Given the description of an element on the screen output the (x, y) to click on. 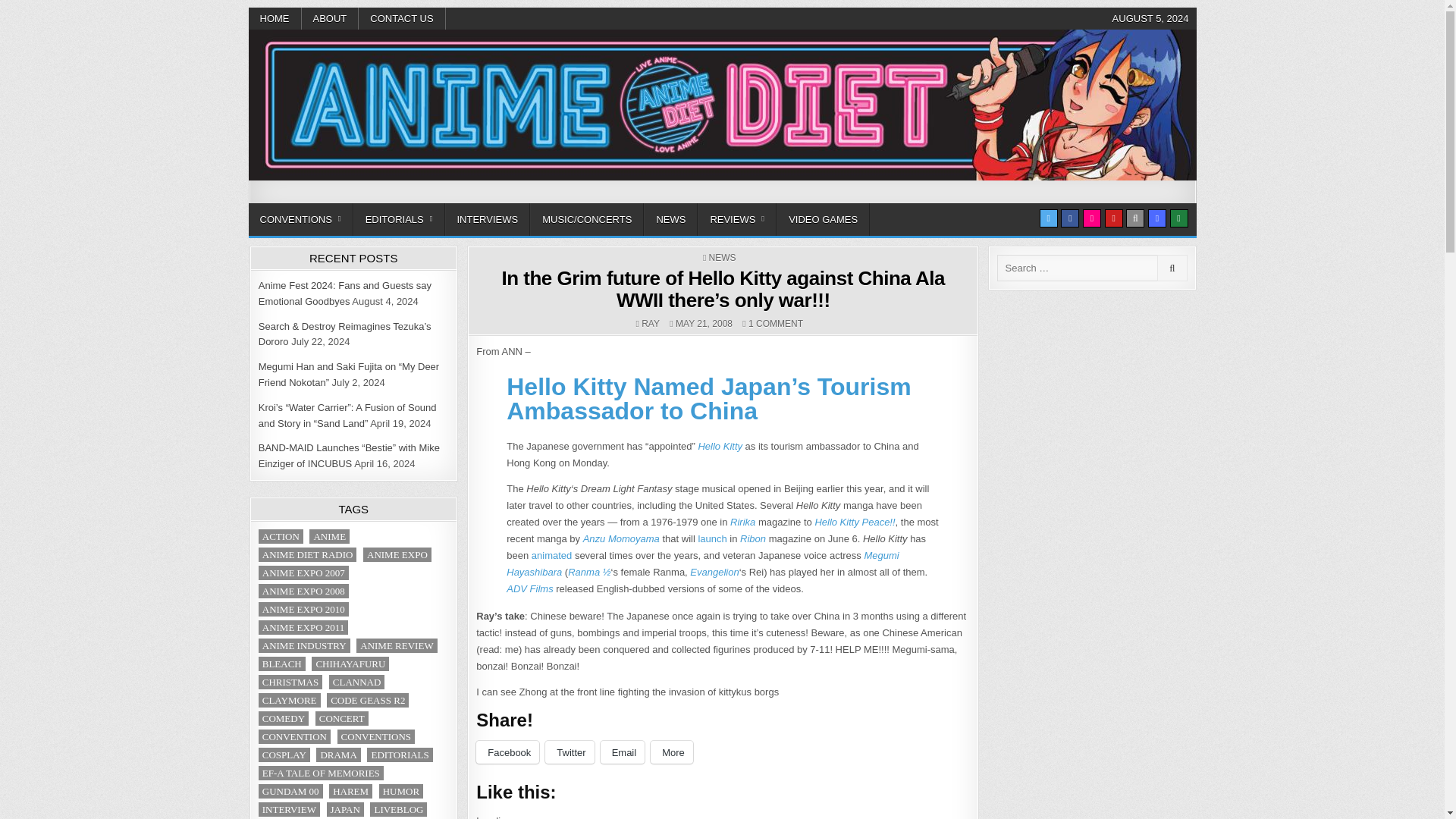
ABOUT (330, 18)
Click to share on Facebook (507, 752)
Facebook (1069, 218)
VIDEO GAMES (822, 219)
INTERVIEWS (486, 219)
REVIEWS (736, 219)
Twitter (1048, 218)
EDITORIALS (399, 219)
Click to email a link to a friend (622, 752)
Flickr (1091, 218)
Anime Diet (304, 200)
CONVENTIONS (300, 219)
Click to share on Twitter (569, 752)
CONTACT US (401, 18)
Search (1134, 218)
